Given the description of an element on the screen output the (x, y) to click on. 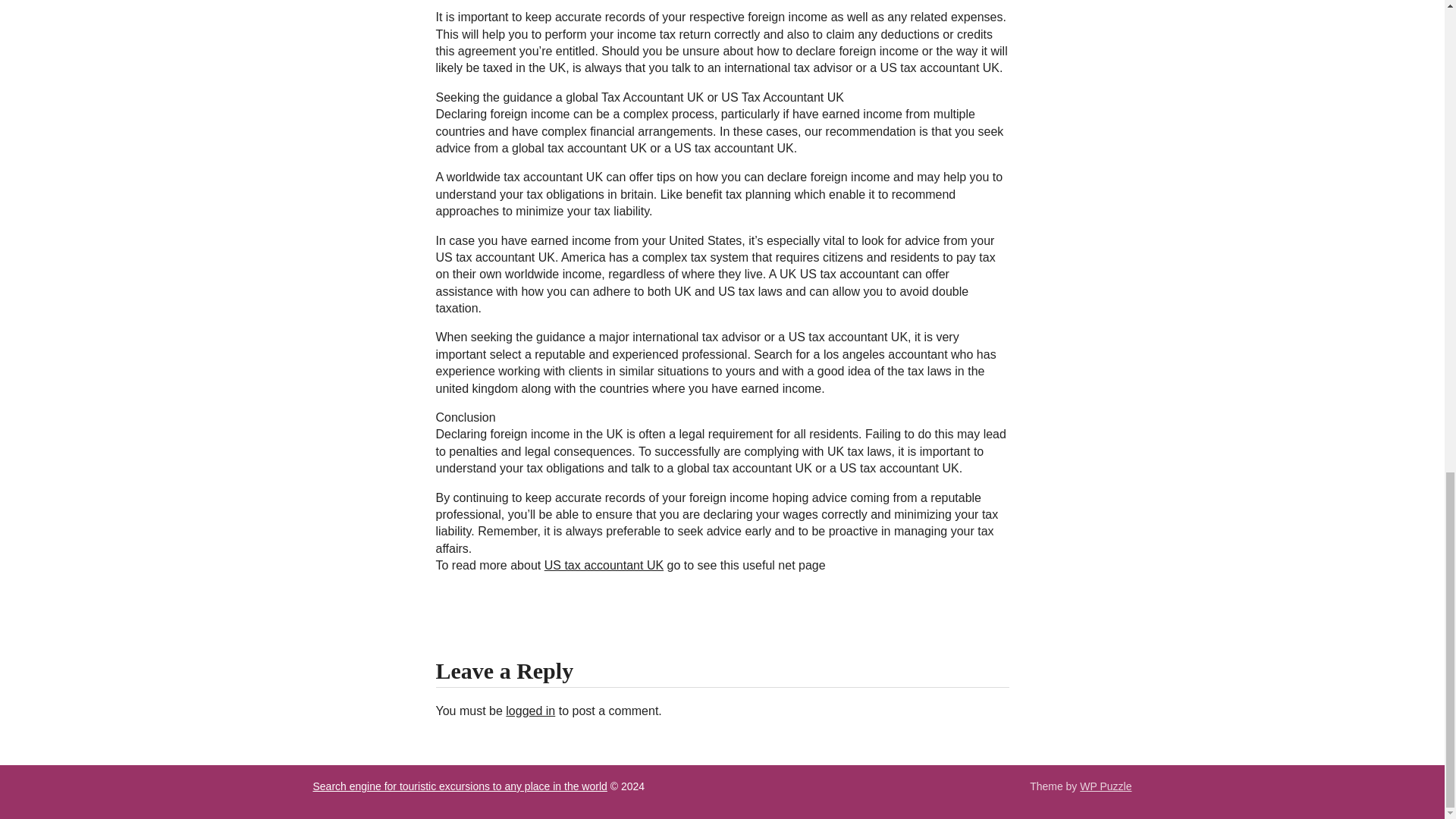
logged in (529, 710)
US tax accountant UK (603, 564)
